Given the description of an element on the screen output the (x, y) to click on. 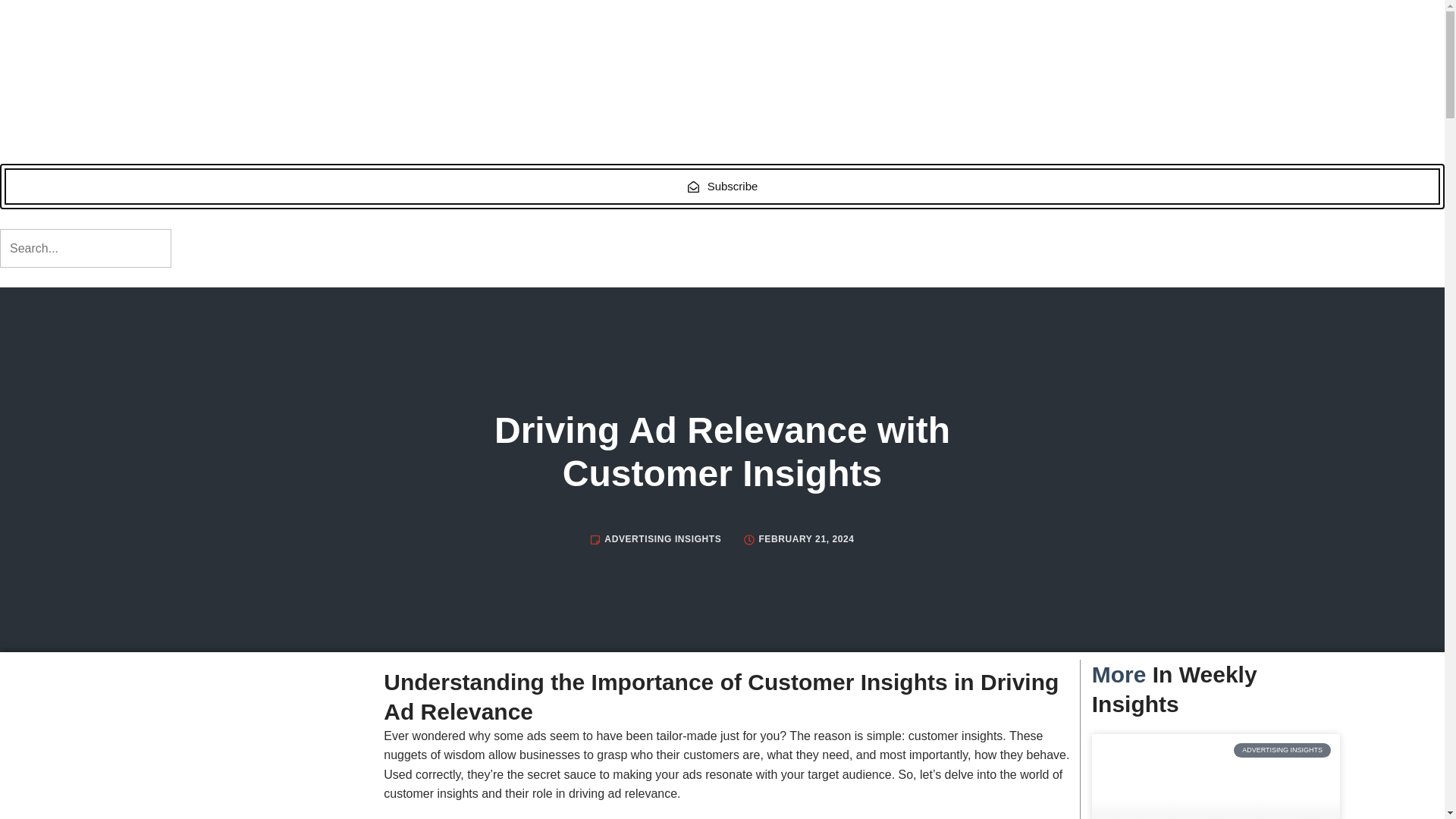
Search (85, 248)
